Given the description of an element on the screen output the (x, y) to click on. 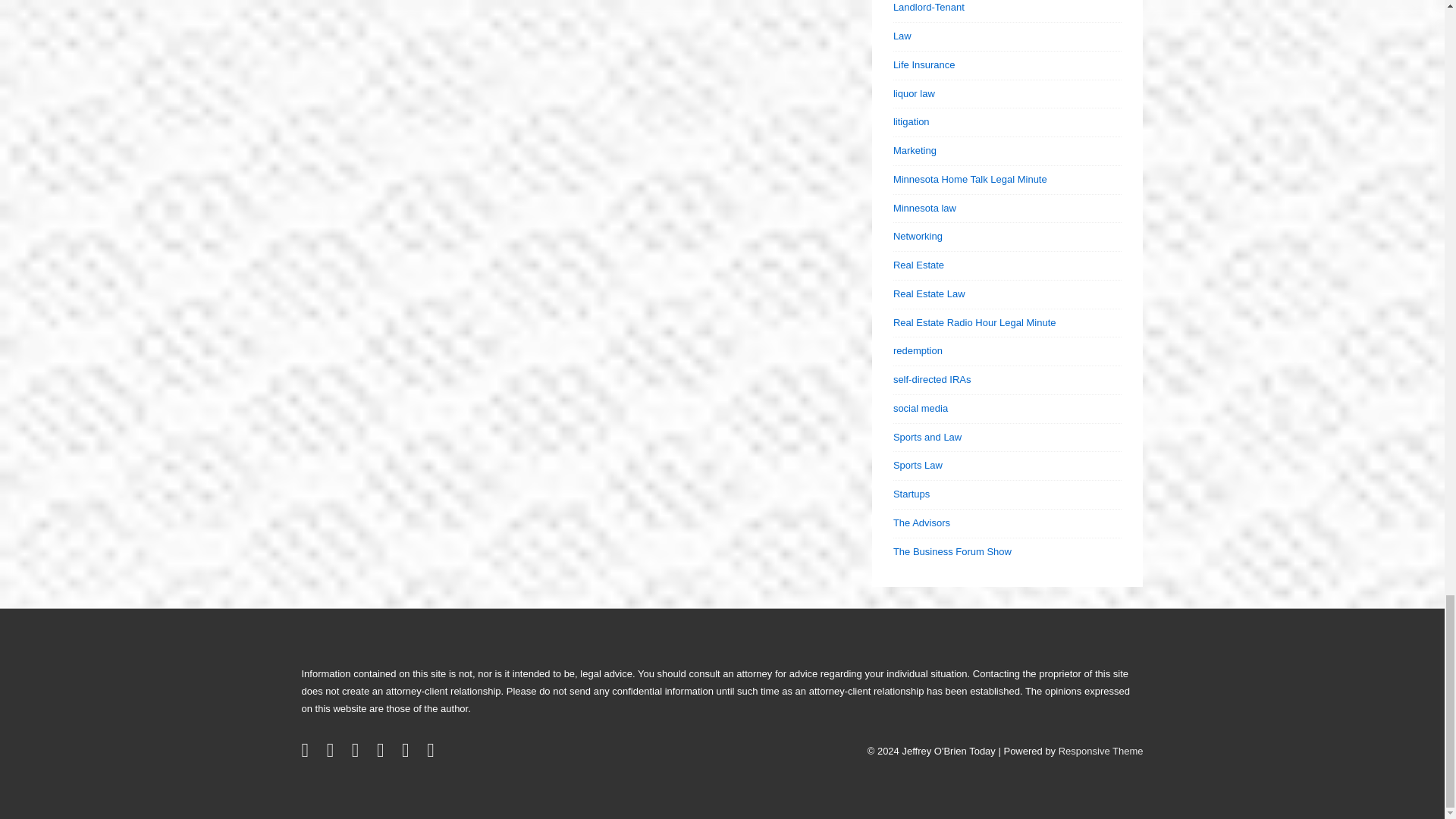
rss (407, 753)
youtube (383, 753)
linkedin (358, 753)
facebook (333, 753)
foursquare (432, 753)
twitter (308, 753)
